Given the description of an element on the screen output the (x, y) to click on. 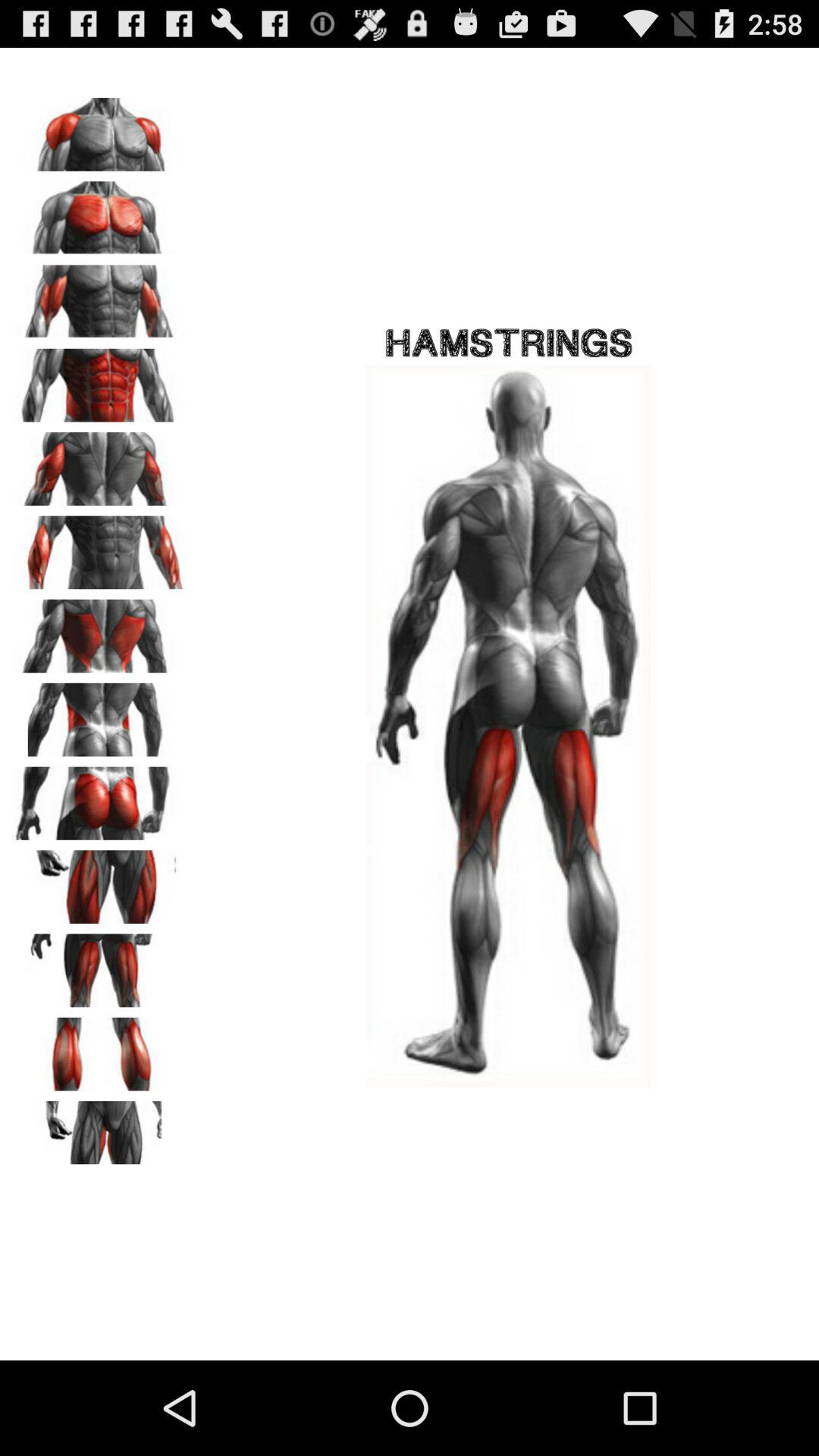
zoom in on calves (99, 1048)
